Given the description of an element on the screen output the (x, y) to click on. 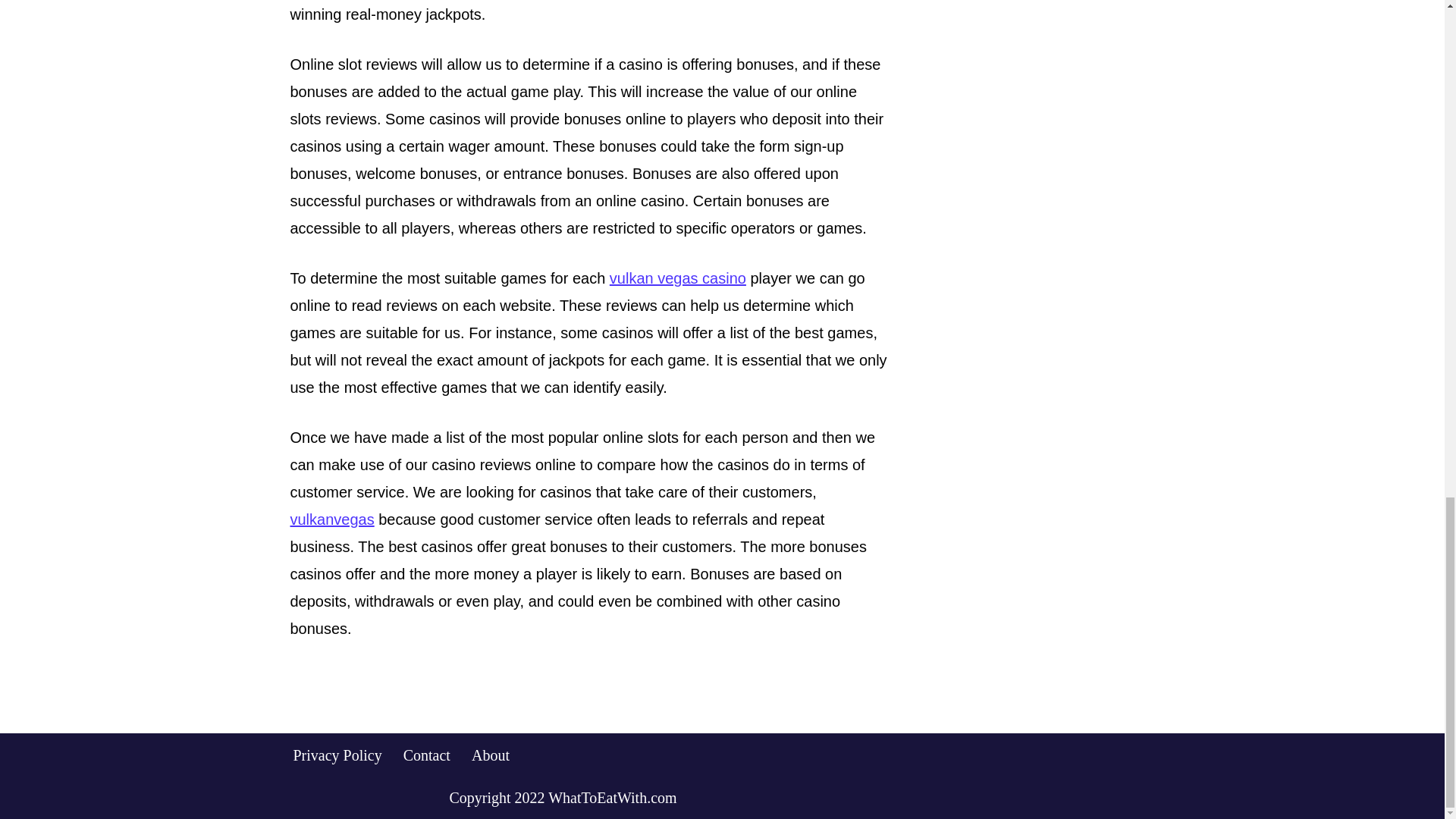
vulkanvegas (331, 518)
About (490, 754)
Privacy Policy (336, 754)
vulkan vegas casino (677, 277)
Contact (426, 754)
